Given the description of an element on the screen output the (x, y) to click on. 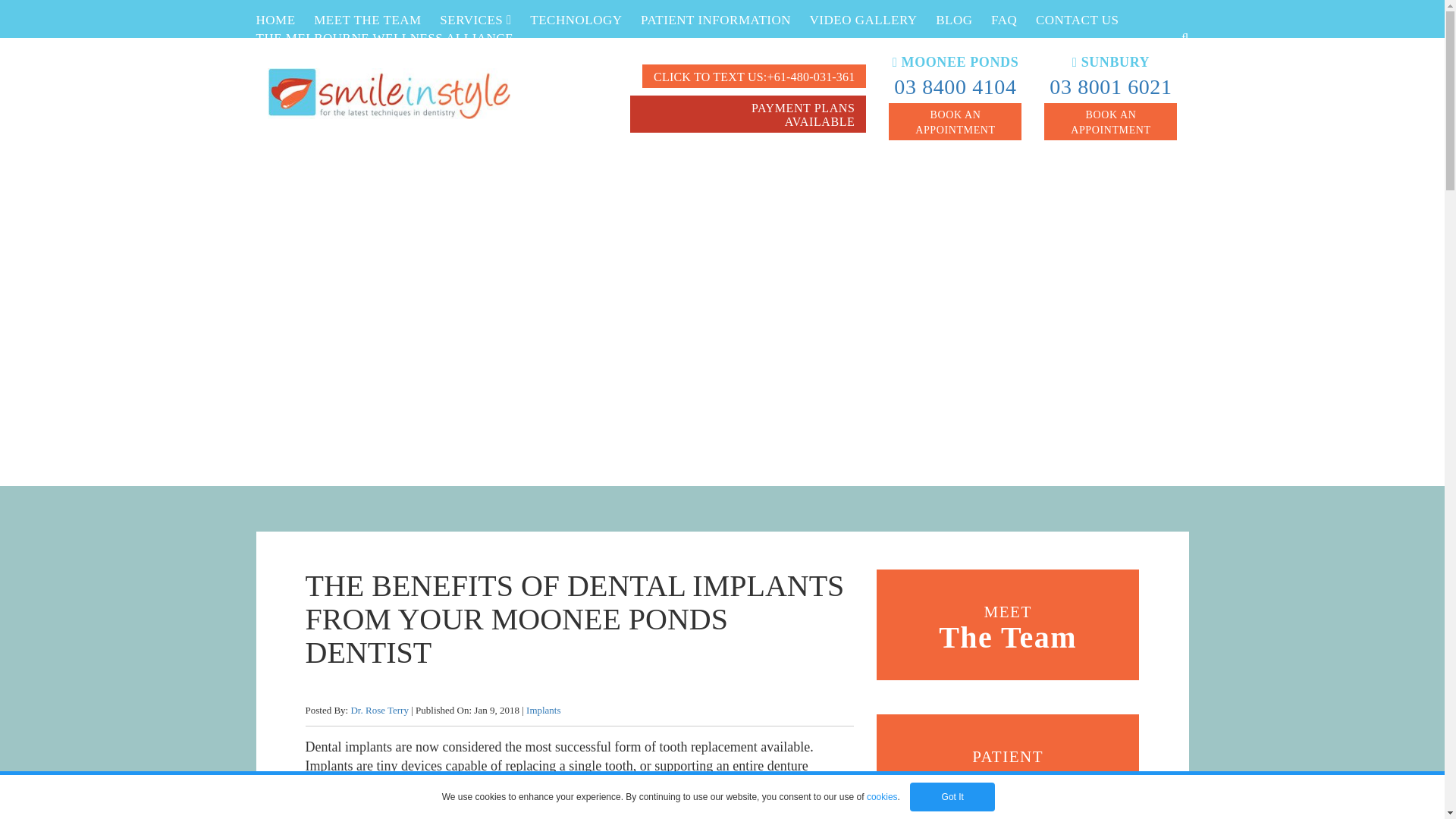
MEET THE TEAM (368, 20)
HOME (275, 20)
SERVICES (475, 20)
